Given the description of an element on the screen output the (x, y) to click on. 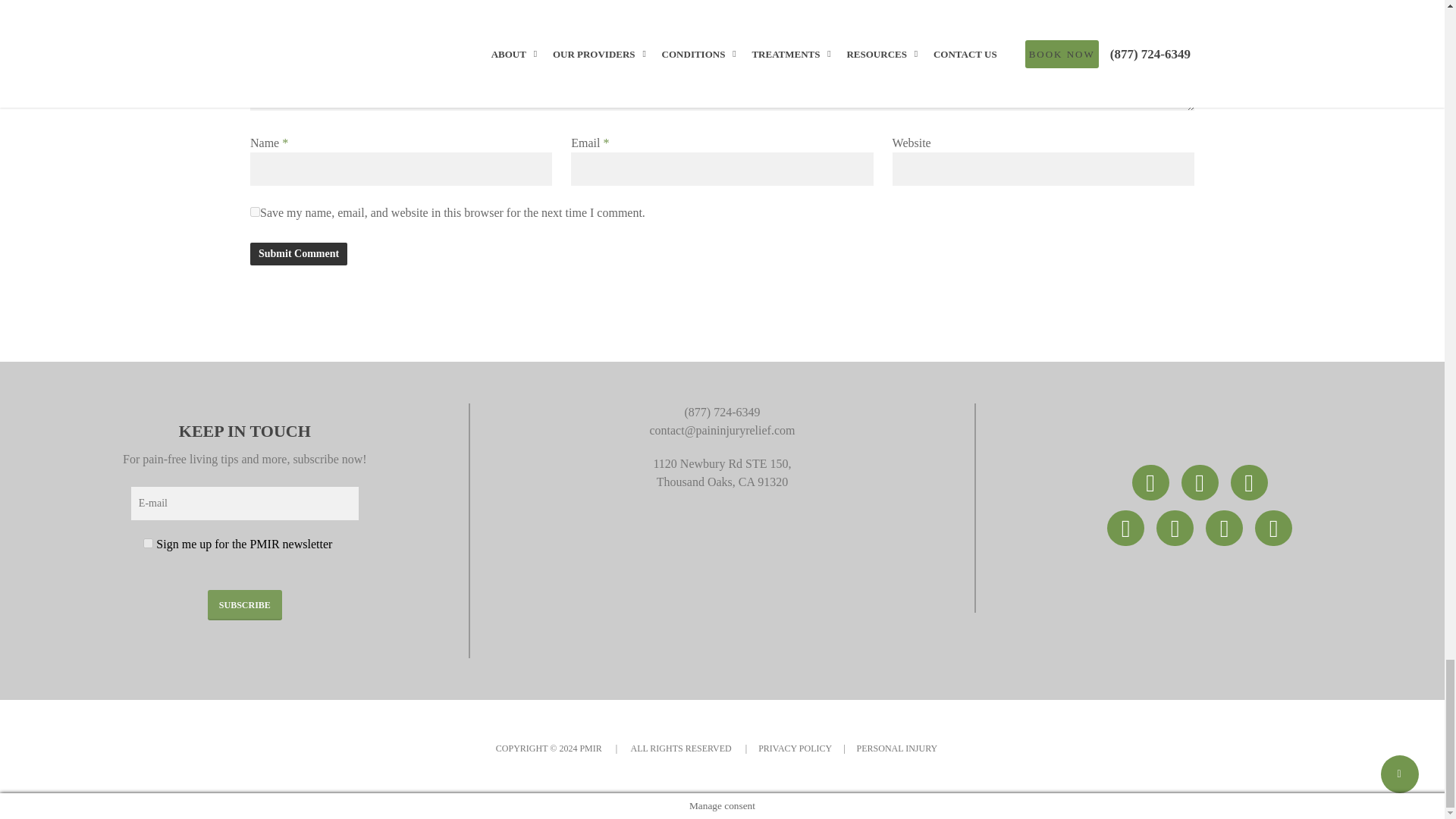
SUBSCRIBE (245, 604)
Submit Comment (298, 253)
Sign me up for the PMIR newsletter (147, 542)
yes (255, 212)
